Given the description of an element on the screen output the (x, y) to click on. 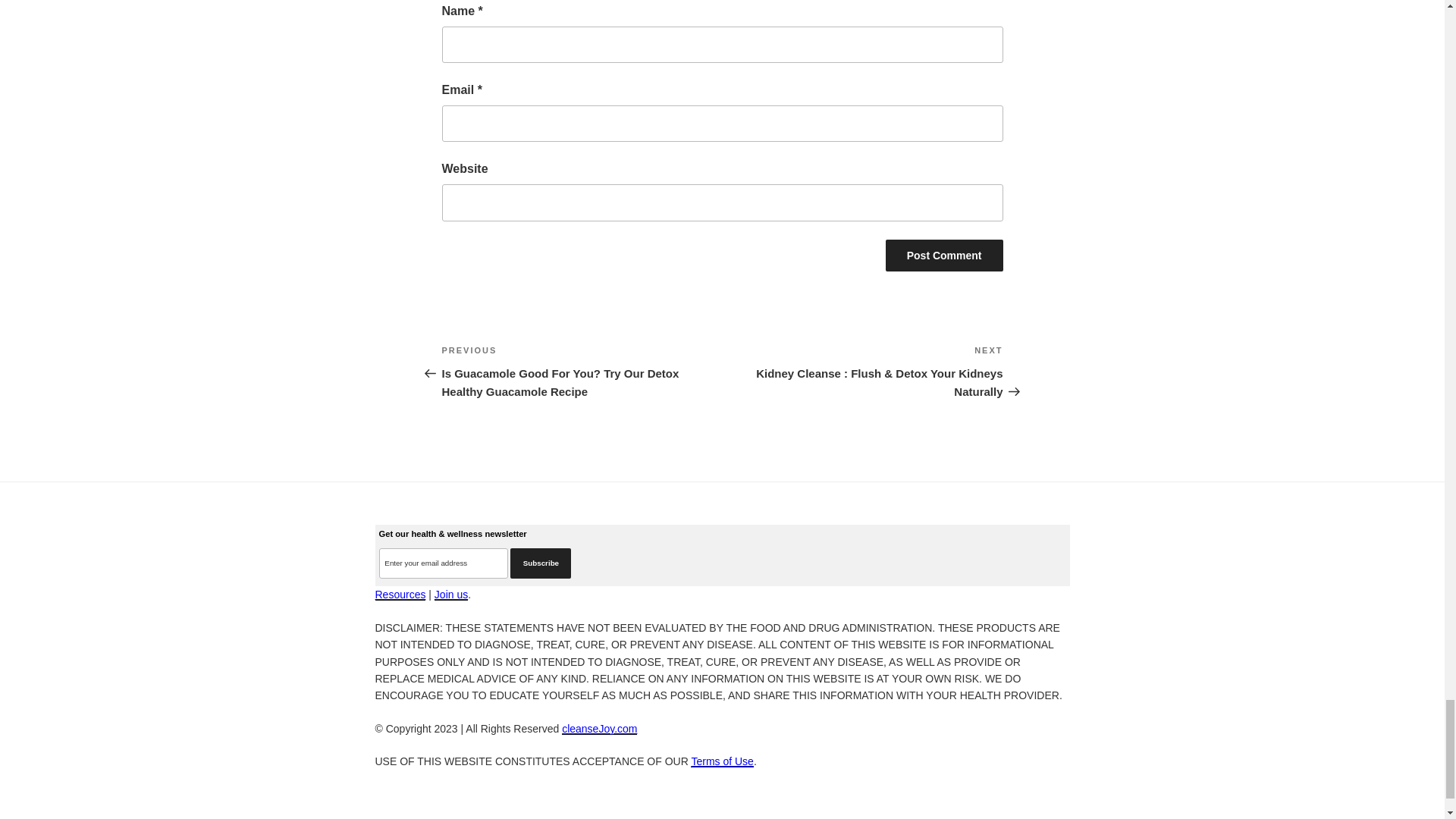
Post Comment (944, 255)
Subscribe (540, 562)
